Given the description of an element on the screen output the (x, y) to click on. 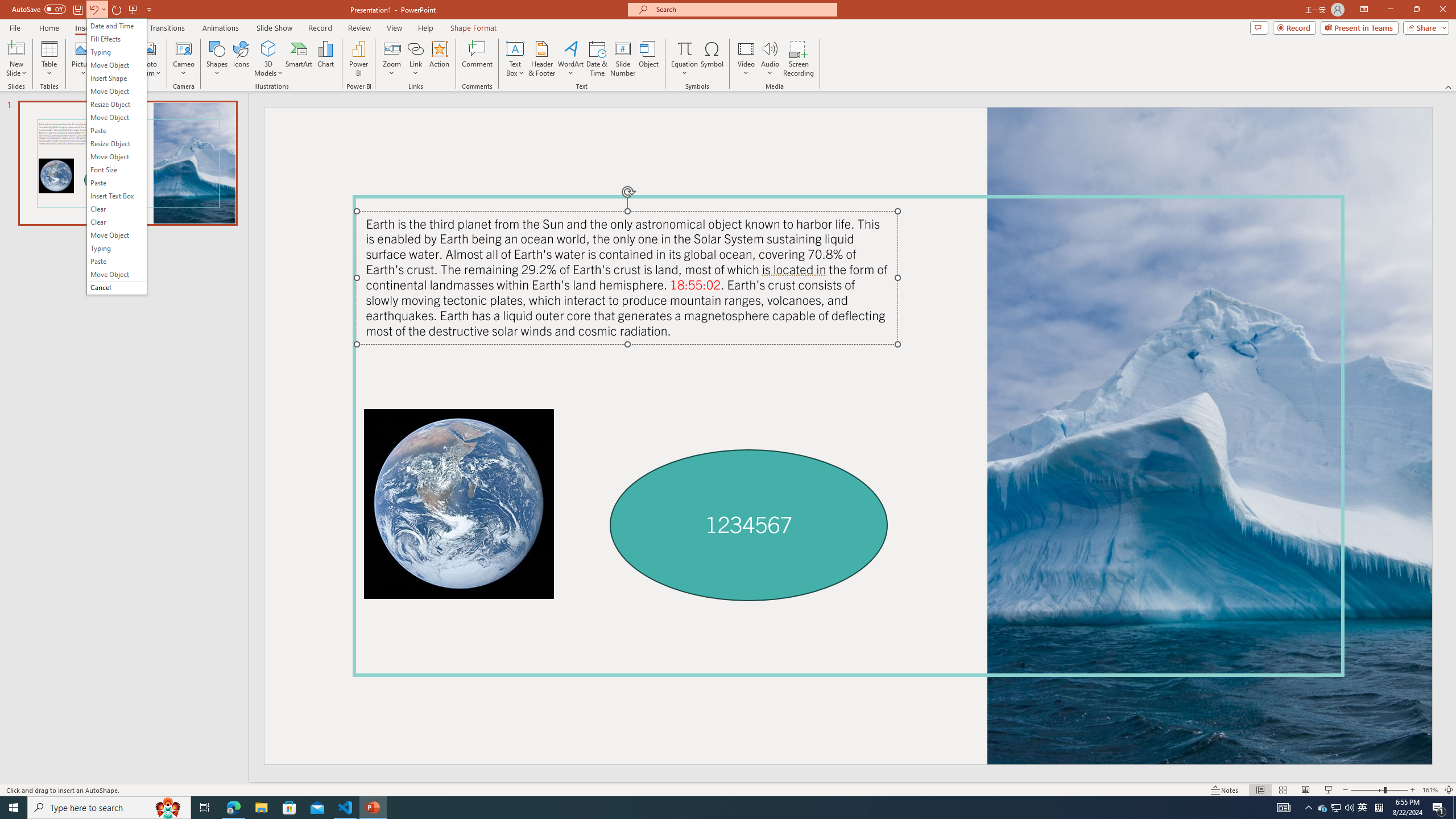
Customize Quick Access Toolbar (149, 9)
SmartArt... (298, 58)
Present in Teams (1359, 27)
Animations (220, 28)
Equation (683, 58)
Link (415, 48)
Comment (476, 58)
Show desktop (1454, 807)
PowerPoint - 1 running window (373, 807)
